Given the description of an element on the screen output the (x, y) to click on. 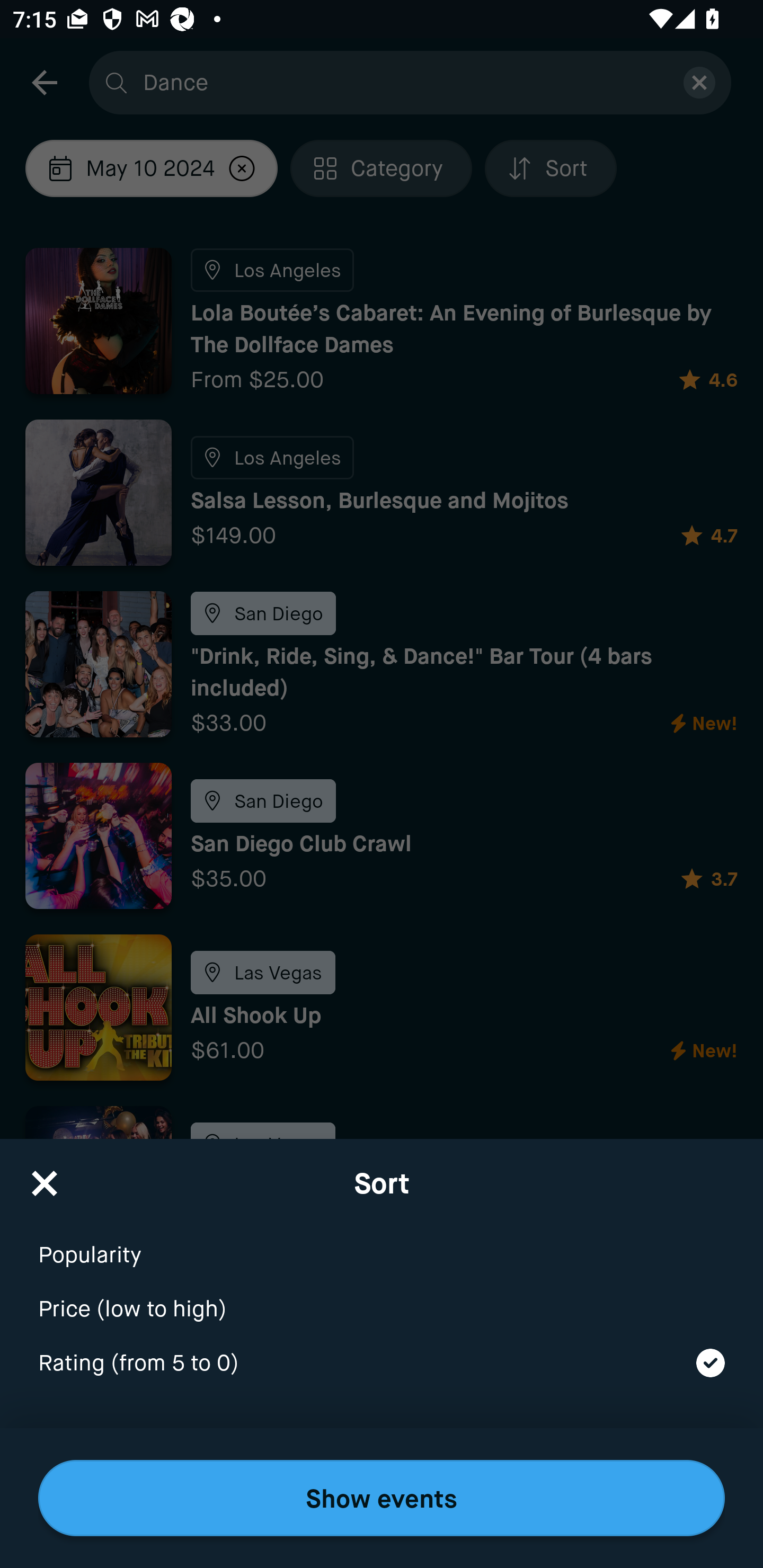
CloseButton (44, 1177)
Popularity (381, 1243)
Price (low to high) (381, 1297)
Rating (from 5 to 0) Selected Icon (381, 1362)
Show events (381, 1497)
